Given the description of an element on the screen output the (x, y) to click on. 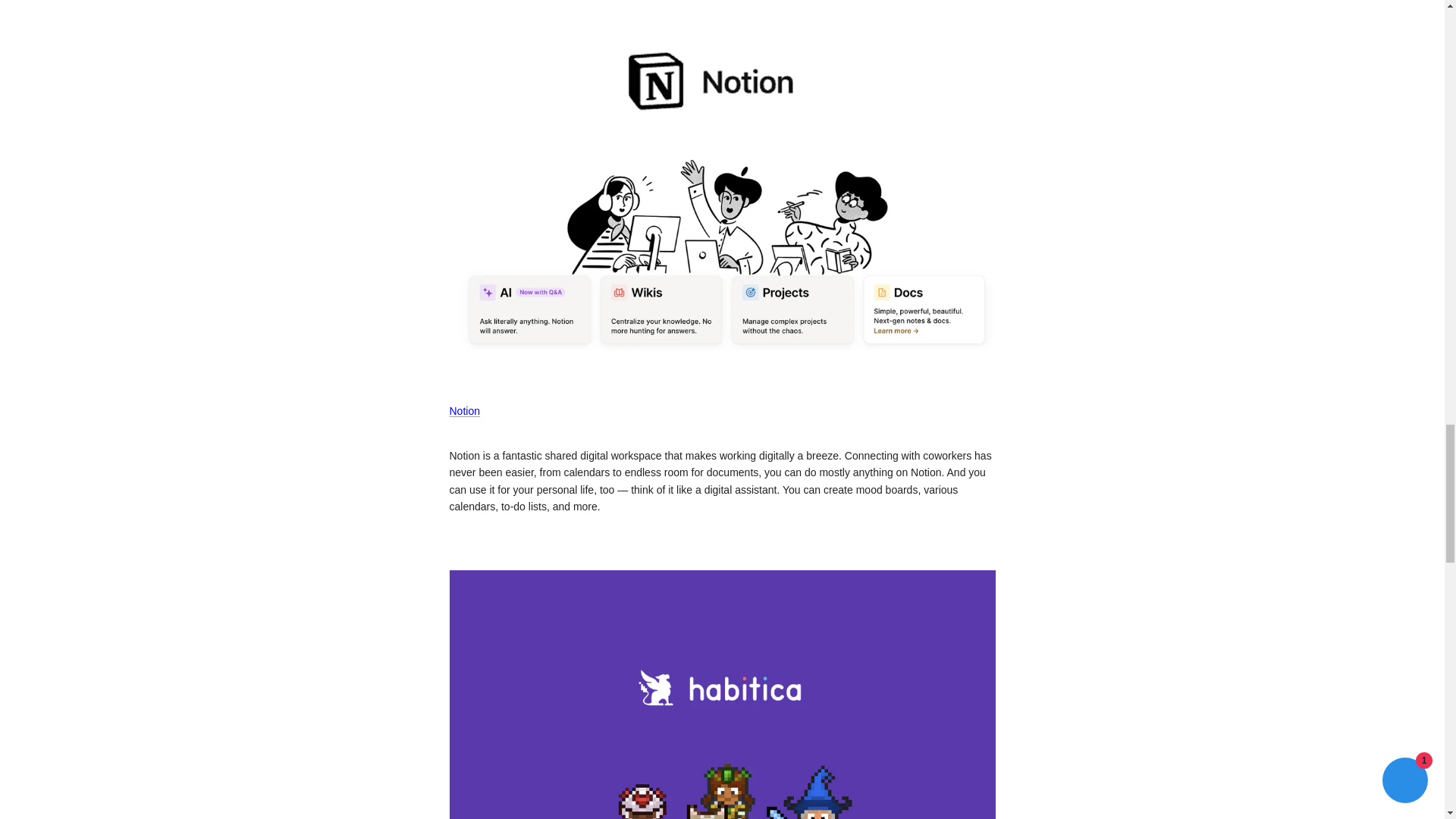
Notion (721, 377)
Notion (463, 410)
